Given the description of an element on the screen output the (x, y) to click on. 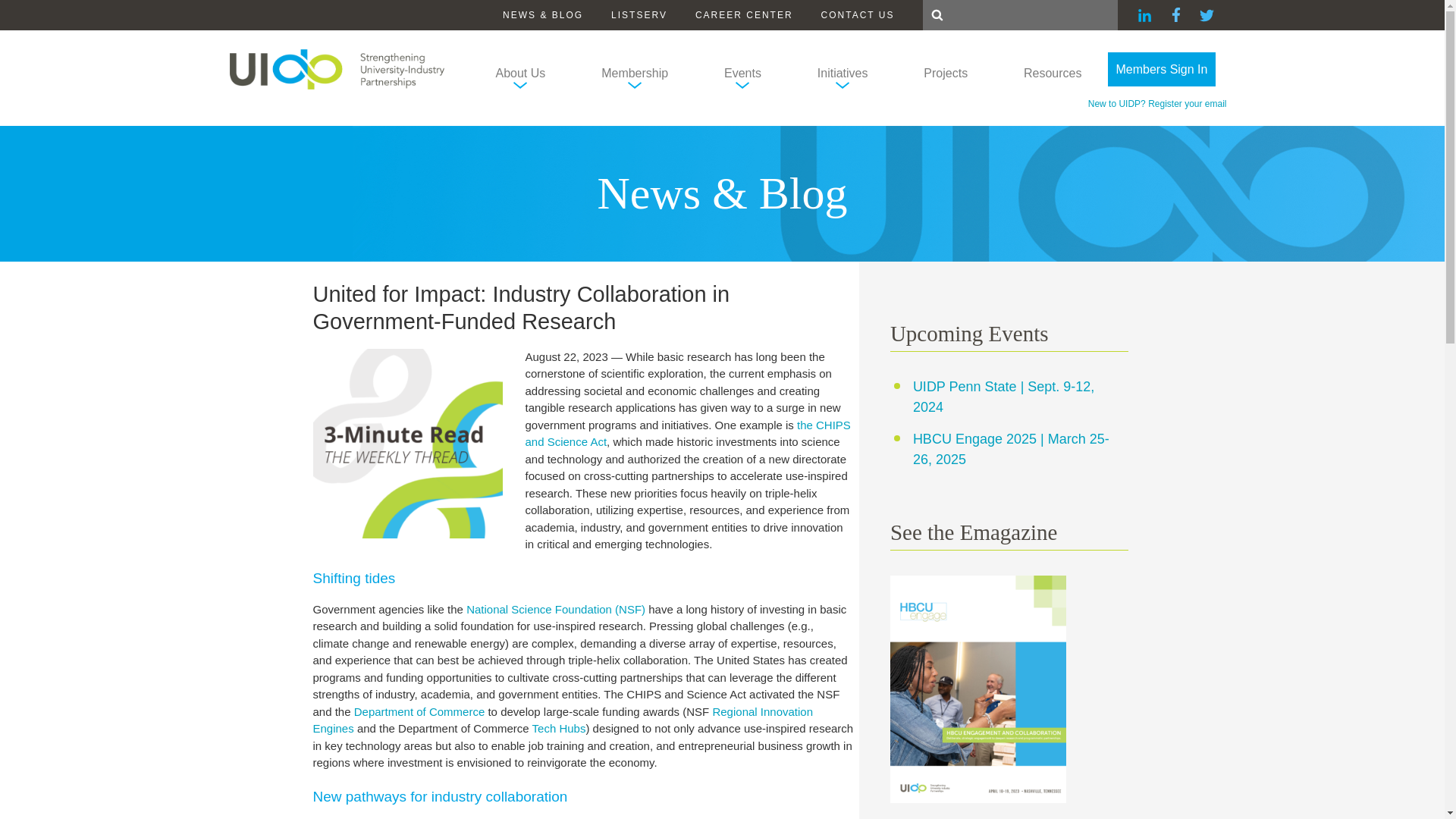
UIDP (336, 69)
CAREER CENTER (744, 15)
LISTSERV (638, 15)
CONTACT US (858, 15)
Events (742, 77)
Membership (634, 77)
About Us (521, 77)
